Given the description of an element on the screen output the (x, y) to click on. 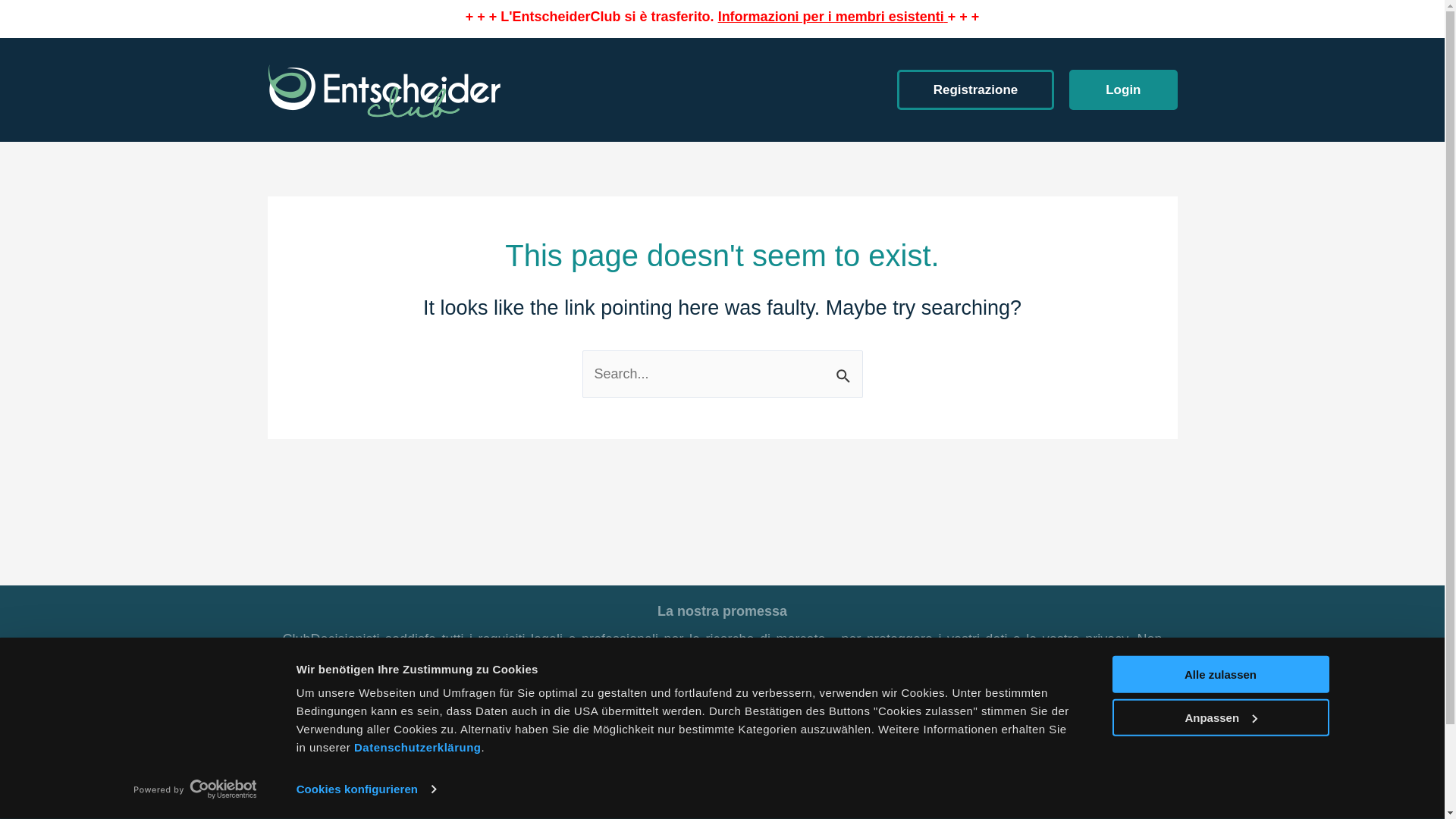
Anpassen Element type: text (1219, 716)
Support Element type: text (805, 776)
Search Element type: text (845, 367)
Impressum Element type: text (735, 776)
Informazioni per i membri esistenti Element type: text (831, 16)
Cookies konfigurieren Element type: text (366, 789)
Login Element type: text (1122, 89)
Registrazione Element type: text (975, 89)
Datenschutz Element type: text (652, 776)
Alle zulassen Element type: text (1219, 674)
area di supporto Element type: text (595, 748)
